Given the description of an element on the screen output the (x, y) to click on. 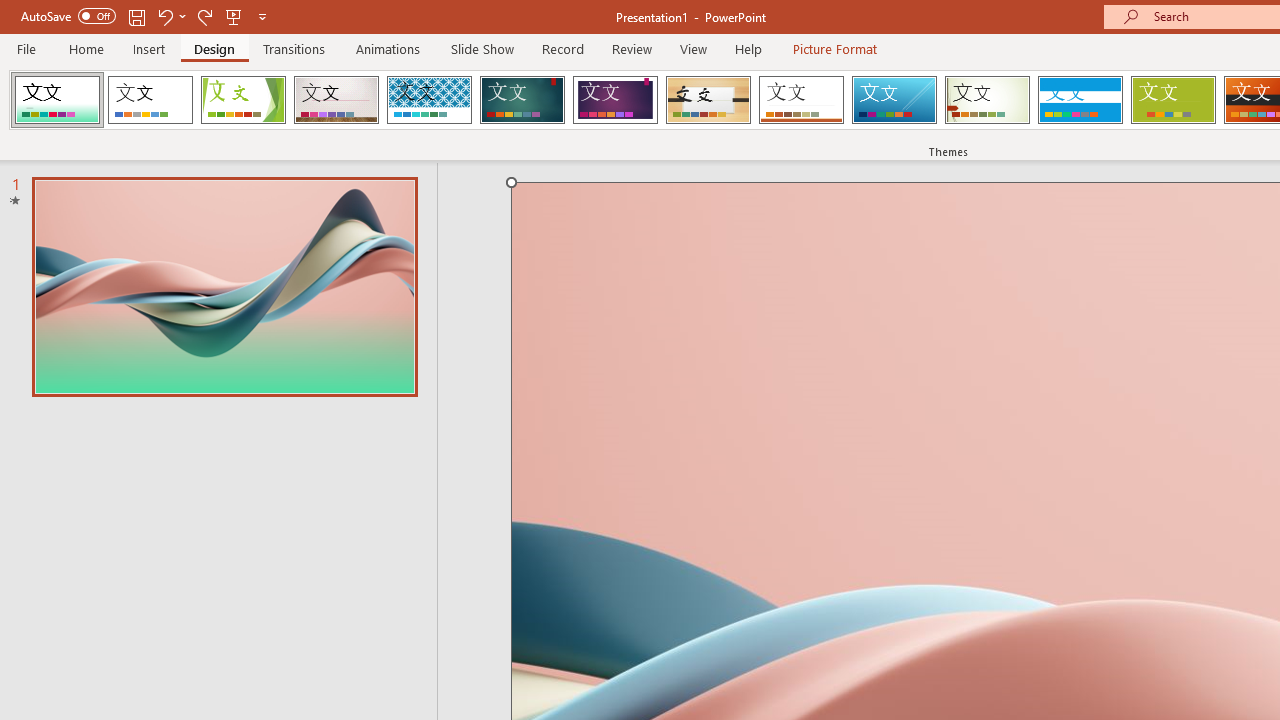
Office Theme (150, 100)
Gallery (336, 100)
